Given the description of an element on the screen output the (x, y) to click on. 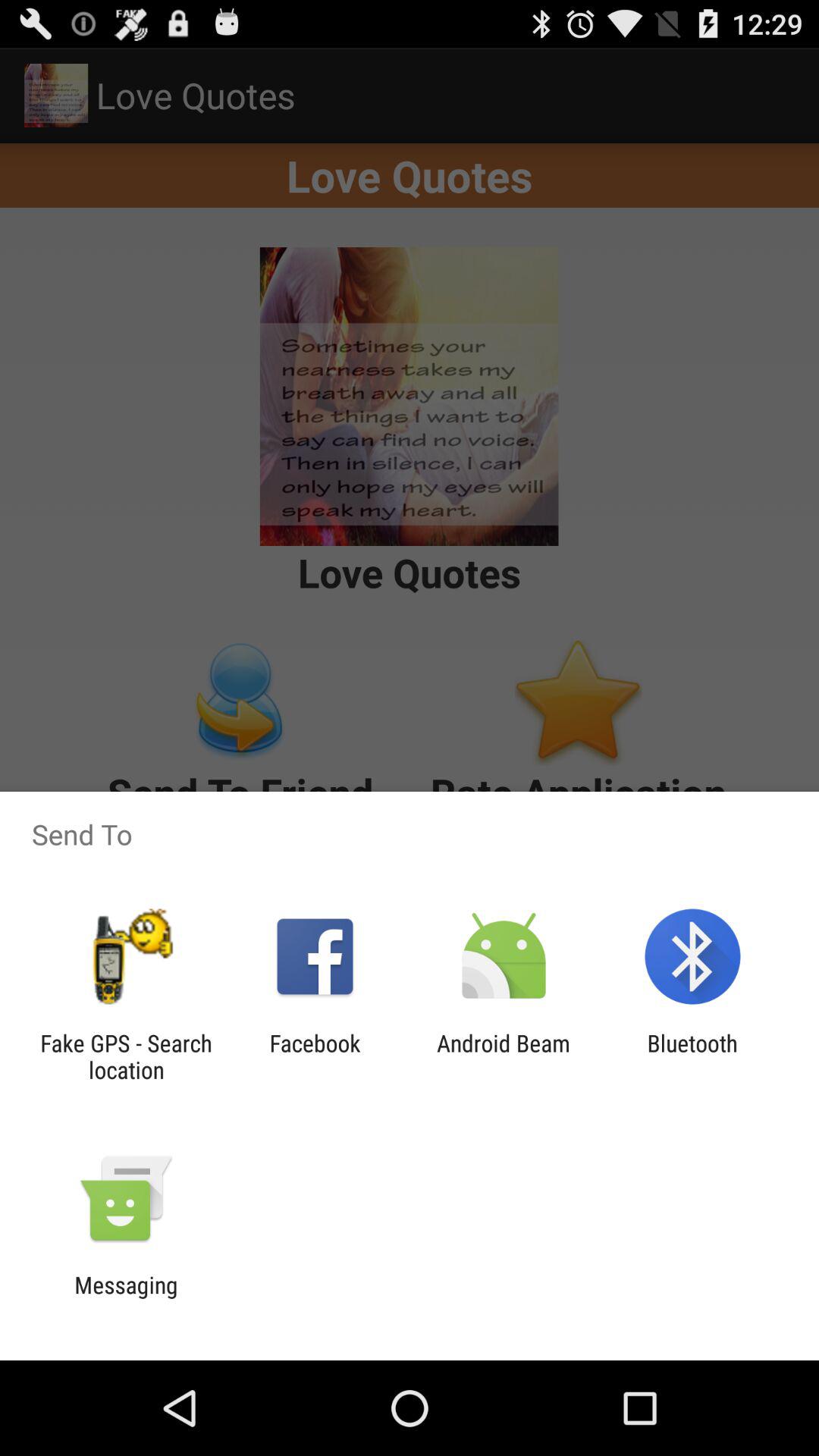
select the bluetooth at the bottom right corner (692, 1056)
